Given the description of an element on the screen output the (x, y) to click on. 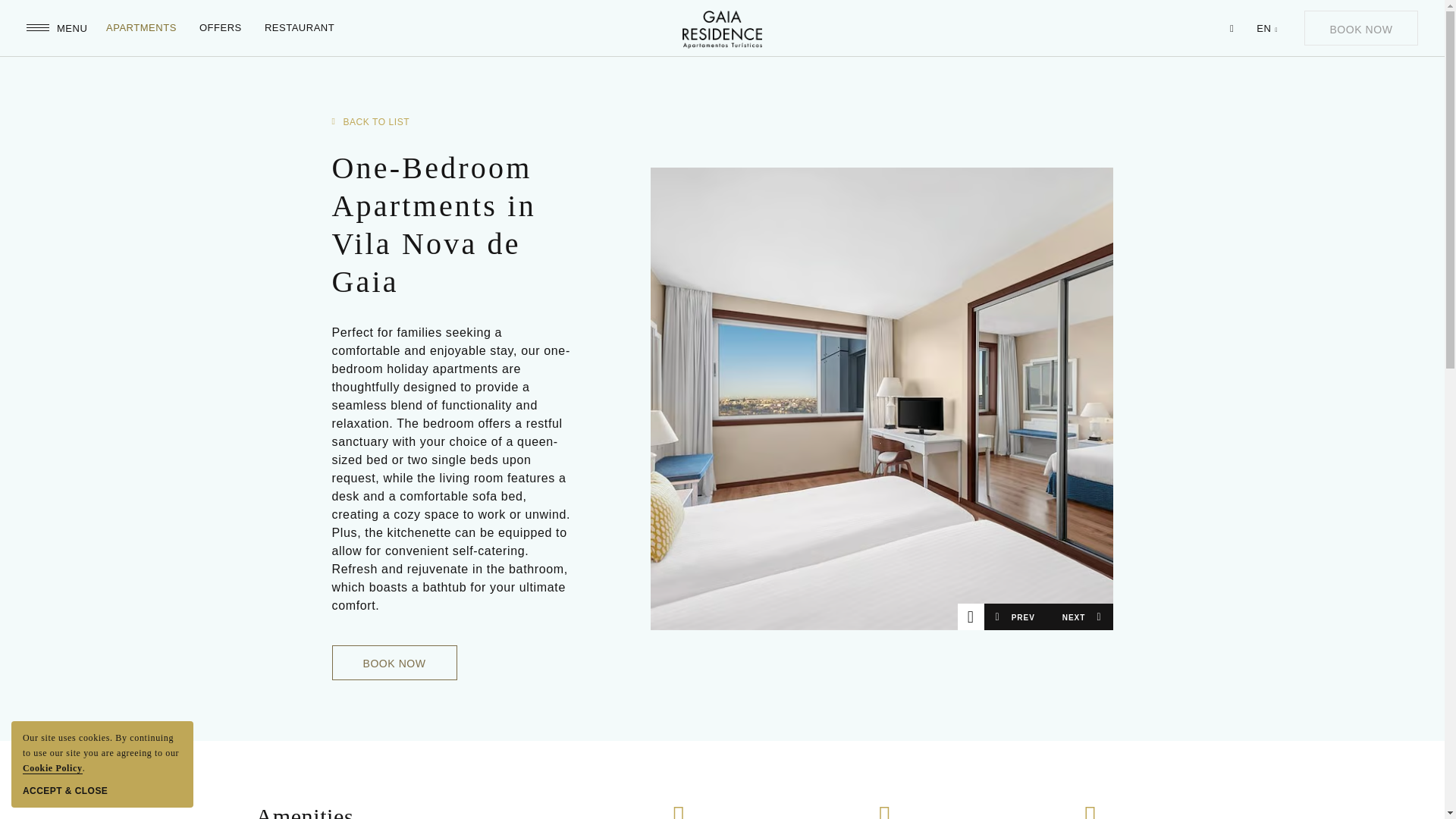
OFFERS (220, 28)
SKIP TO MAIN CONTENT (110, 16)
BOOK NOW (1361, 27)
Amenities (453, 662)
TOGGLE SITE NAVIGATION (374, 810)
RESTAURANT (58, 28)
APARTMENTS (299, 28)
